Given the description of an element on the screen output the (x, y) to click on. 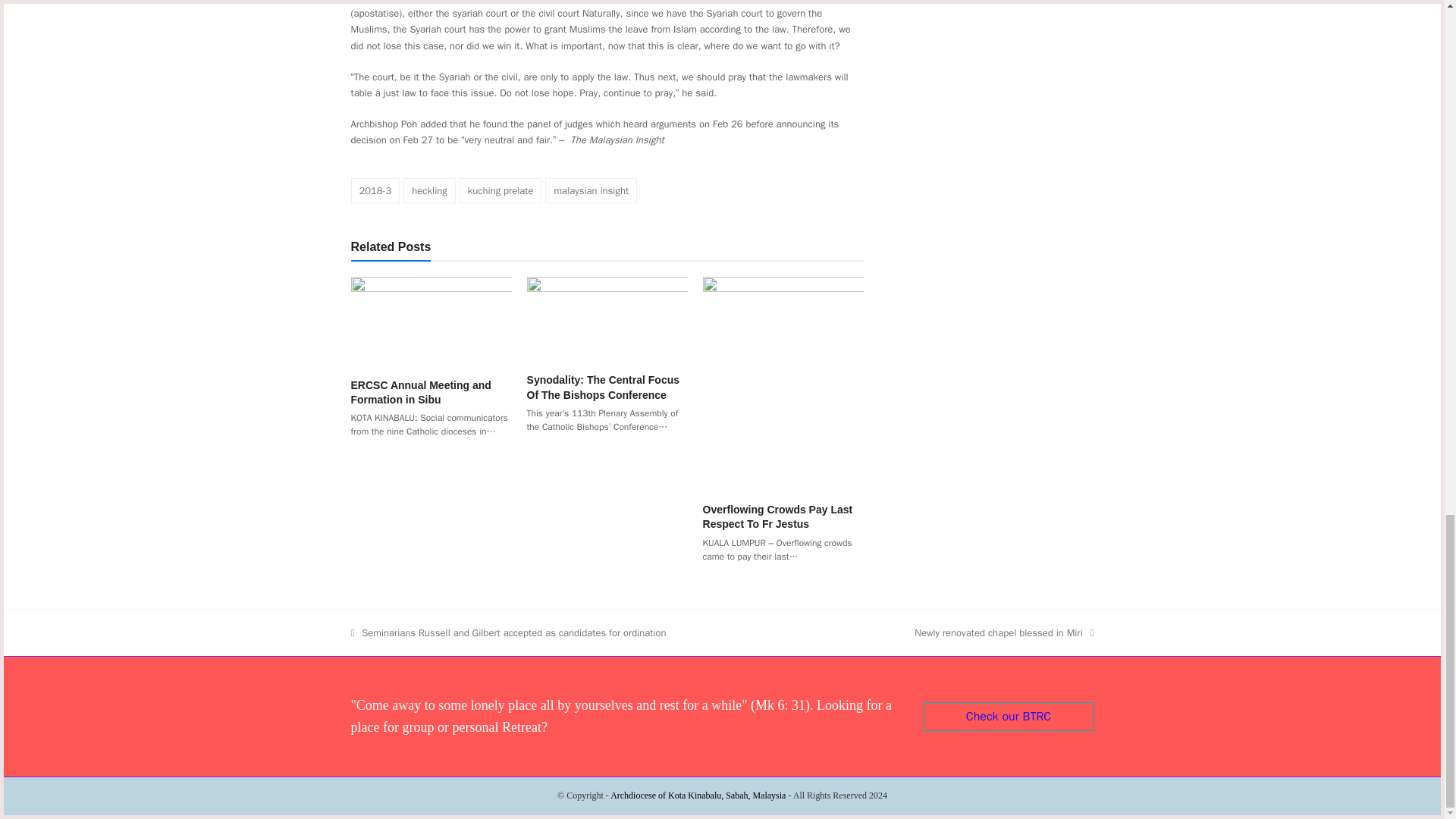
ERCSC Annual Meeting and Formation in Sibu (430, 320)
Overflowing Crowds Pay Last Respect To Fr Jestus (783, 382)
Synodality: The Central Focus Of The Bishops Conference (607, 318)
